Given the description of an element on the screen output the (x, y) to click on. 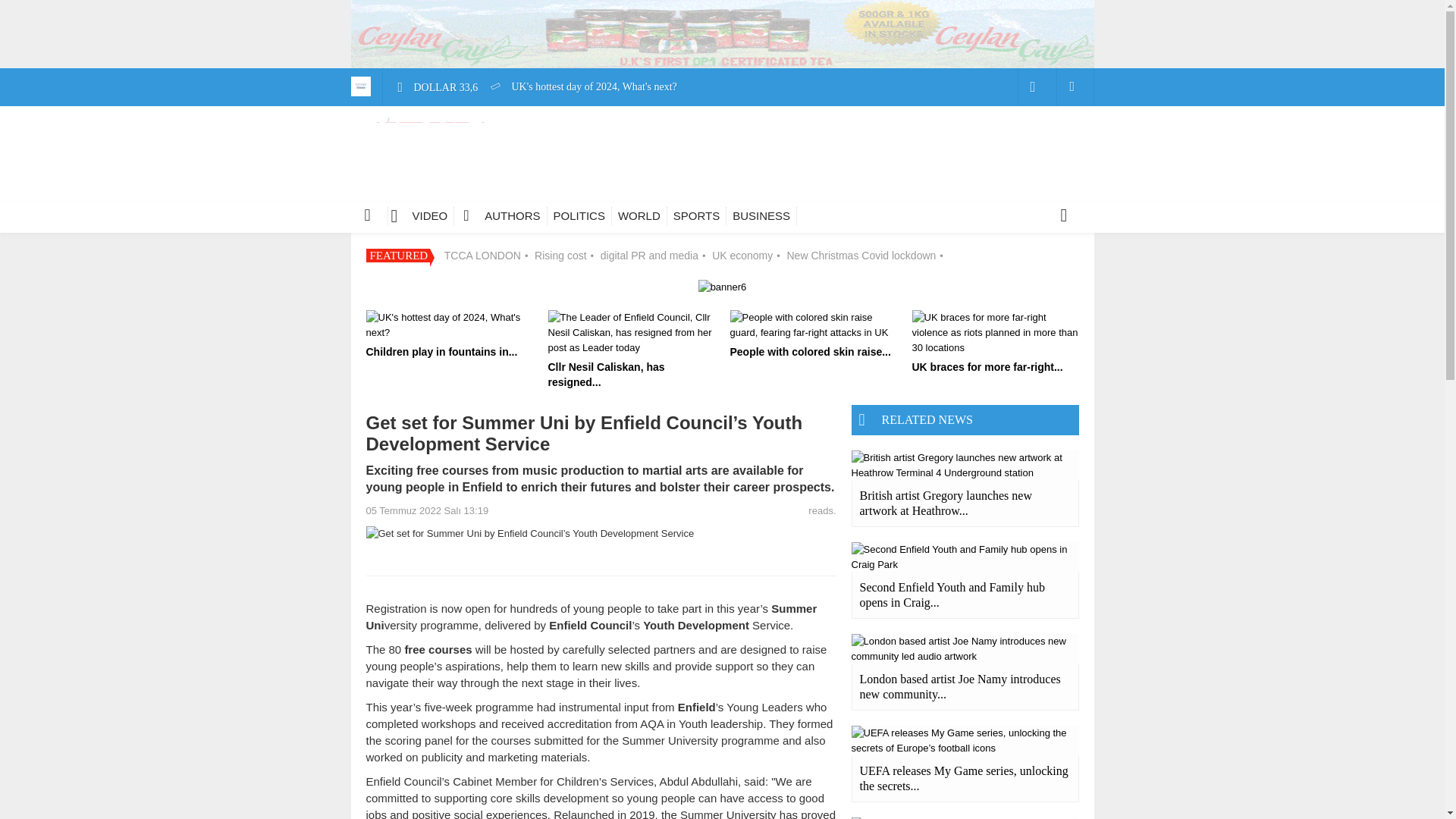
UK  top prosecutor said 'Nowhere to hide' (587, 239)
UK's hottest day of 2024, What's next? (582, 87)
UK top prosecutor said 'Nowhere to hide' (587, 239)
POLITICS (579, 216)
POLITICS (579, 216)
WORLD (638, 216)
Business support hub launched with Enfield Council (611, 391)
